Given the description of an element on the screen output the (x, y) to click on. 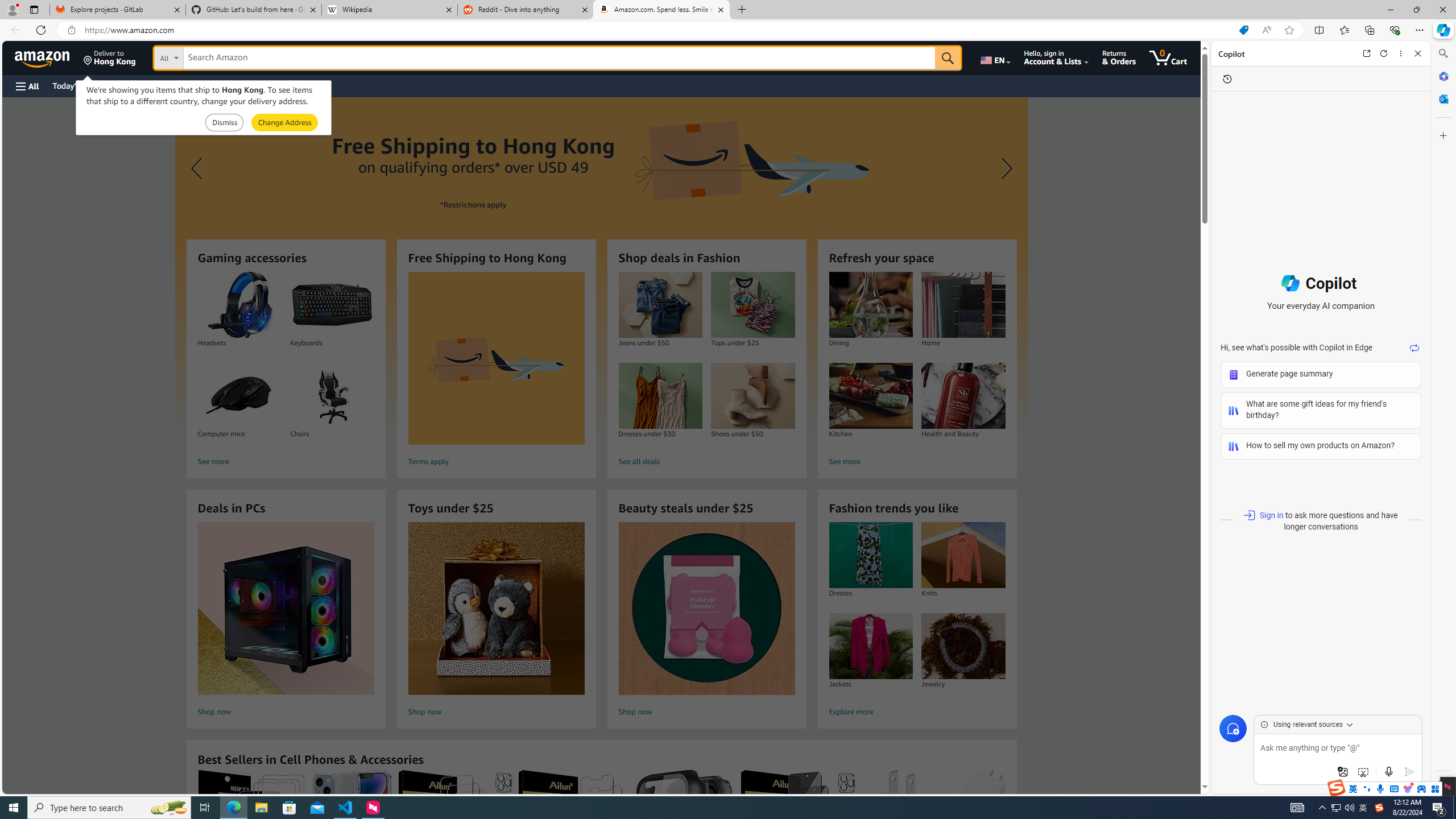
Hello, sign in Account & Lists (1056, 57)
Dresses (870, 555)
Knits (963, 555)
Kitchen (870, 395)
Open Menu (26, 86)
